Given the description of an element on the screen output the (x, y) to click on. 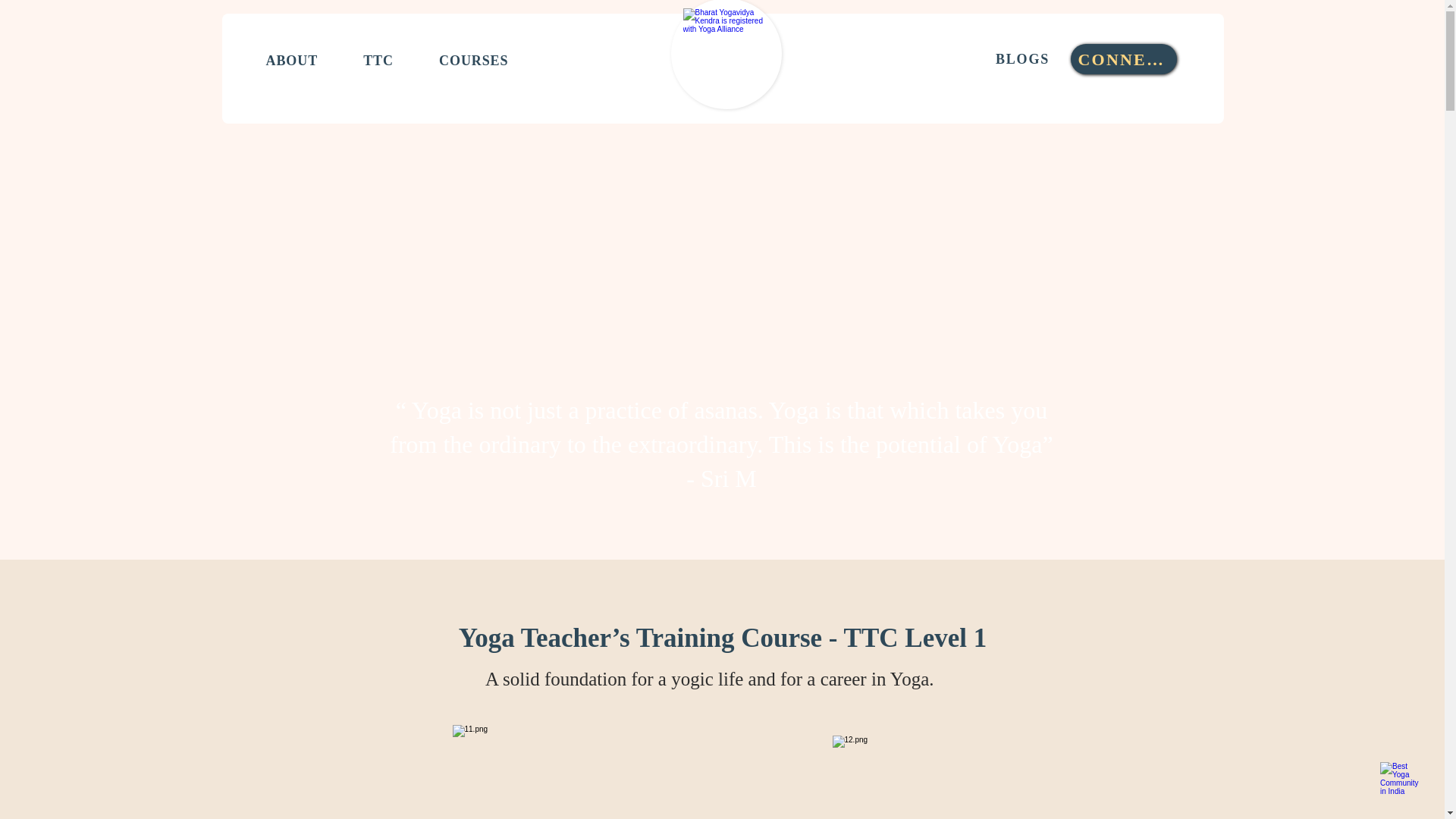
COURSES (473, 60)
BLOGS (1024, 59)
TTC (378, 60)
ABOUT (291, 60)
CONNECT (1123, 59)
